Given the description of an element on the screen output the (x, y) to click on. 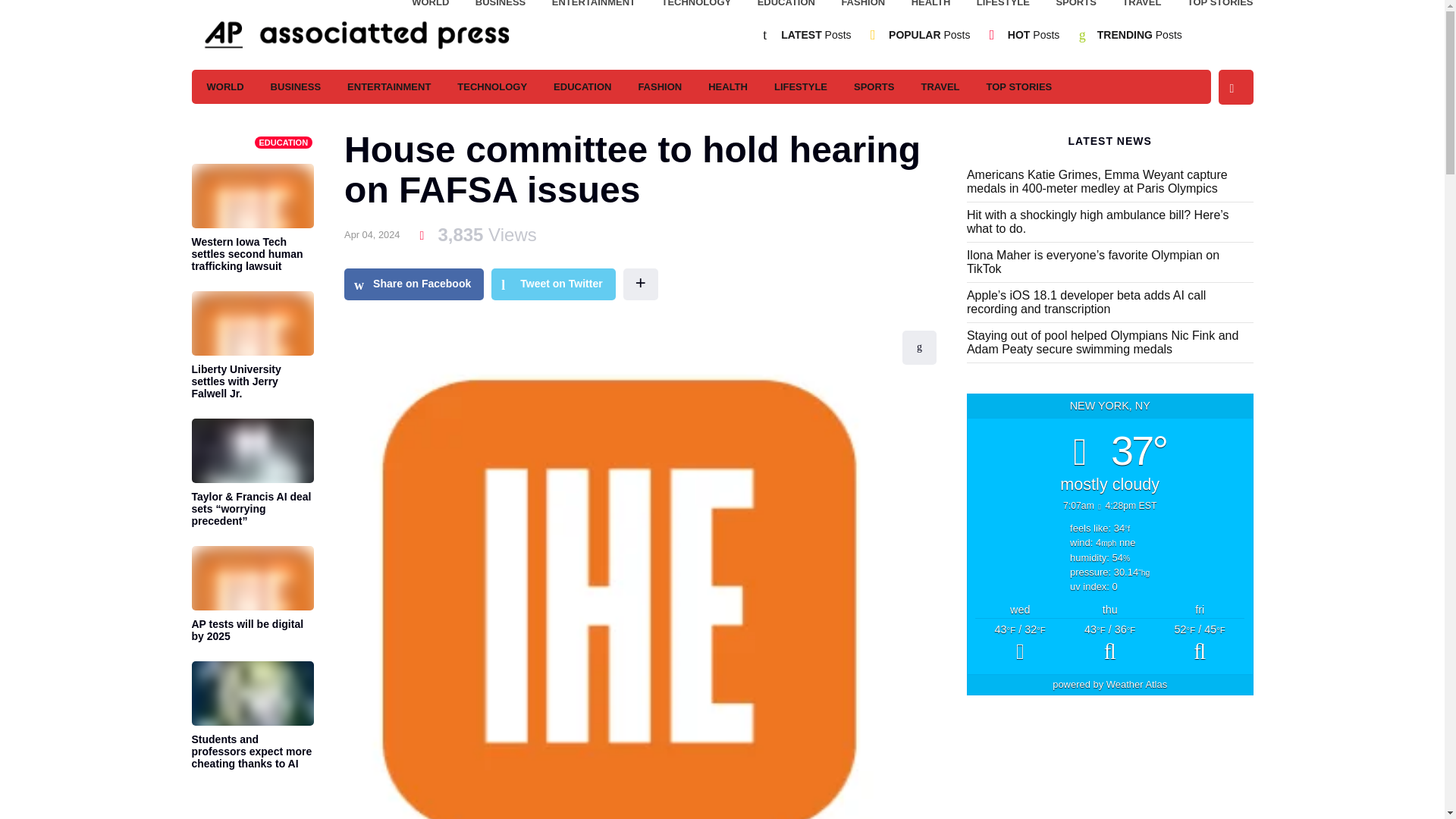
TRAVEL (1141, 5)
HEALTH (930, 5)
POPULAR Posts (928, 35)
Western Iowa Tech settles second human trafficking lawsuit (252, 252)
ENTERTAINMENT (592, 5)
Liberty University settles with Jerry Falwell Jr. (252, 379)
TOP STORIES (1220, 5)
EDUCATION (283, 142)
LIFESTYLE (800, 86)
TECHNOLOGY (695, 5)
Cloudy (1019, 643)
HEALTH (727, 86)
TRENDING Posts (1139, 35)
TRAVEL (939, 86)
EDUCATION (786, 5)
